Given the description of an element on the screen output the (x, y) to click on. 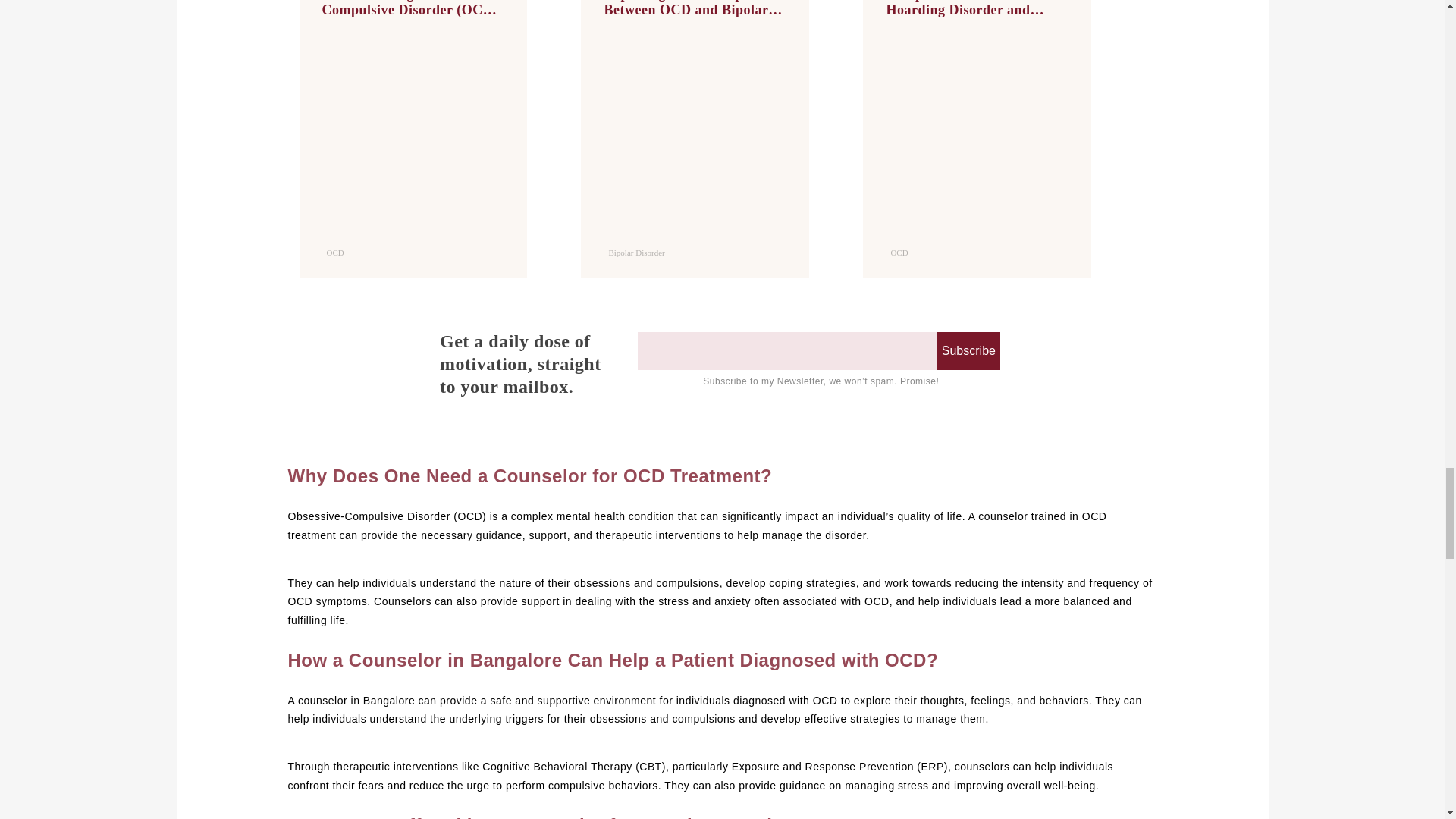
Subscribe (968, 351)
